Given the description of an element on the screen output the (x, y) to click on. 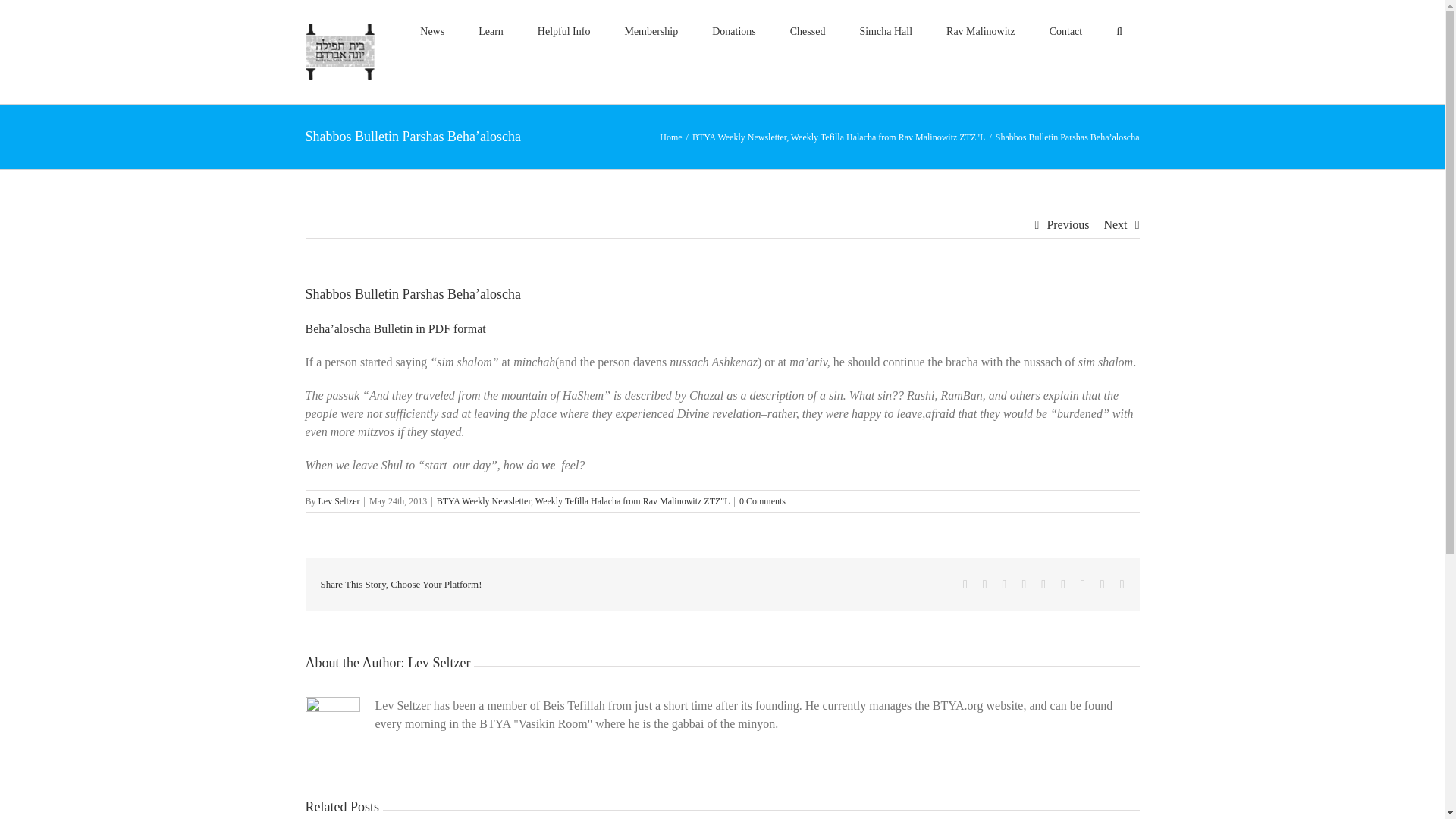
Learn (491, 31)
Posts by Lev Seltzer (338, 501)
Chessed (808, 31)
News (432, 31)
Helpful Info (563, 31)
Posts by Lev Seltzer (438, 662)
Simcha Hall (886, 31)
BTYA Weekly Newsletter (739, 136)
Weekly Tefilla Halacha from Rav Malinowitz ZTZ"L (887, 136)
Rav Malinowitz (981, 31)
